Given the description of an element on the screen output the (x, y) to click on. 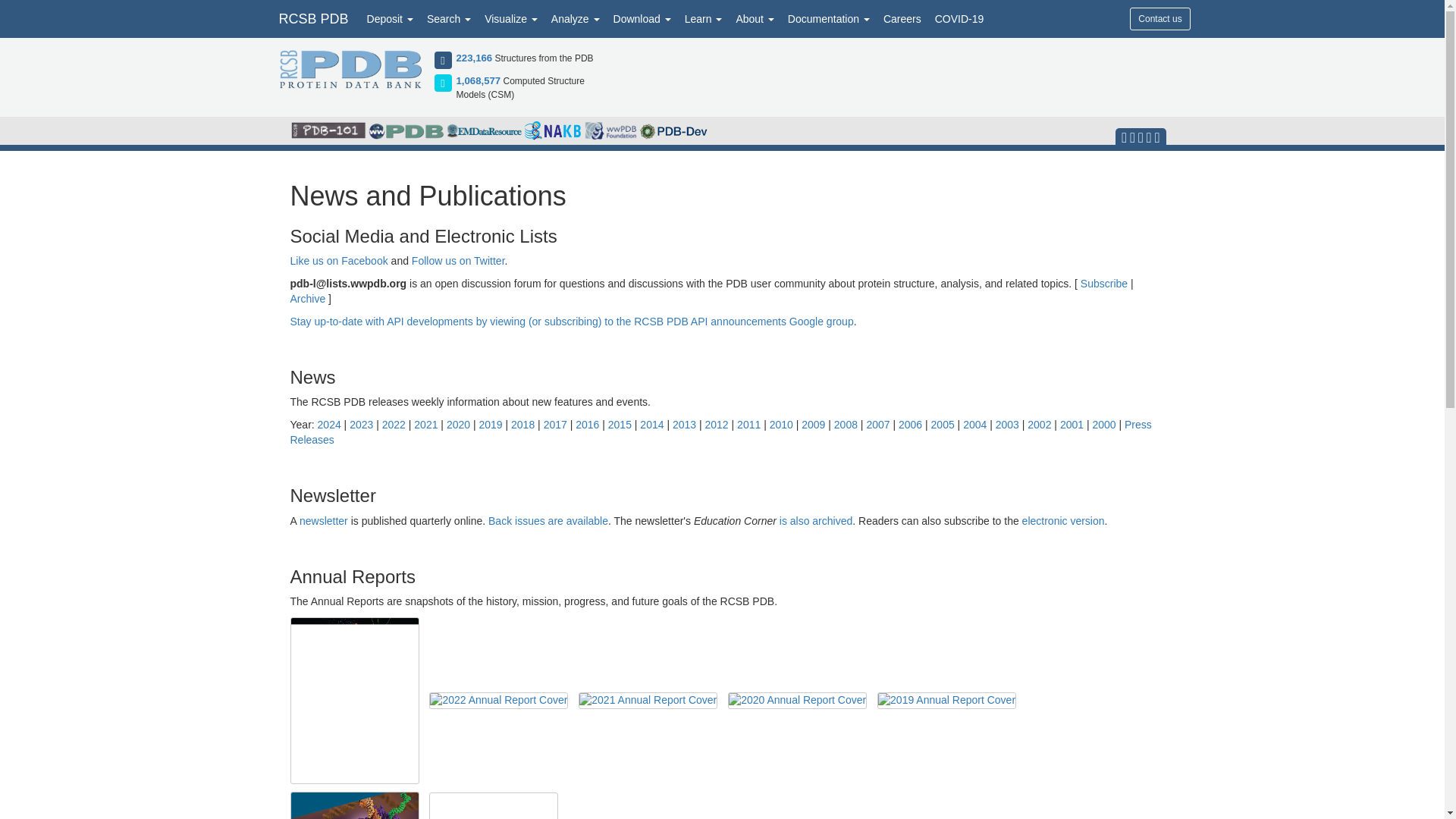
Visualize  (510, 18)
Analyze  (575, 18)
Deposit  (389, 18)
RCSB PDB (312, 18)
Search  (448, 18)
